Given the description of an element on the screen output the (x, y) to click on. 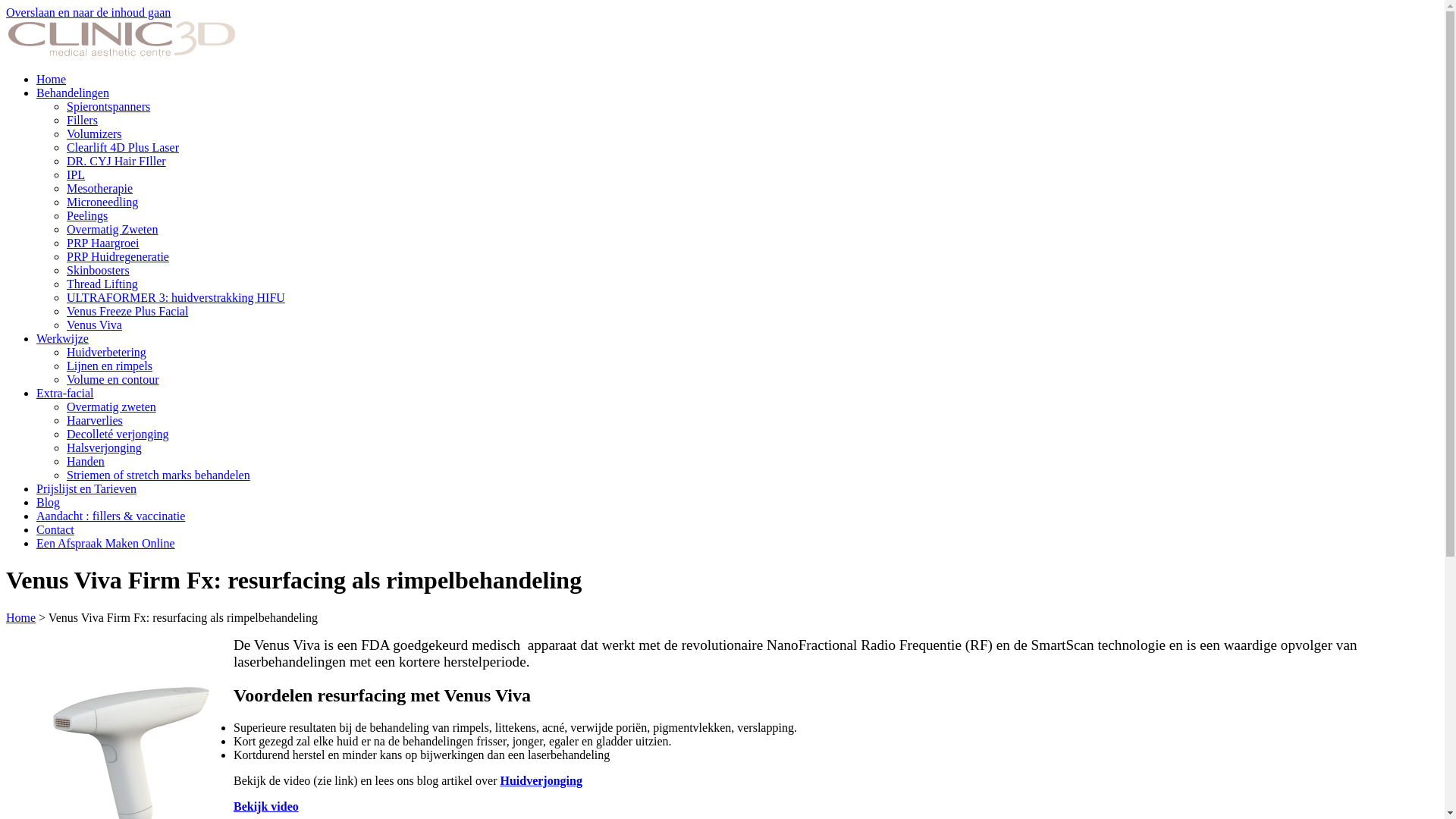
Lijnen en rimpels Element type: text (109, 365)
Volume en contour Element type: text (112, 379)
PRP Huidregeneratie Element type: text (117, 256)
Clearlift 4D Plus Laser Element type: text (122, 147)
Huidverbetering Element type: text (106, 351)
Peelings Element type: text (86, 215)
Bekijk video Element type: text (265, 806)
Haarverlies Element type: text (94, 420)
Home Element type: text (20, 617)
Halsverjonging Element type: text (103, 447)
Overmatig Zweten Element type: text (111, 228)
Extra-facial Element type: text (65, 392)
Blog Element type: text (47, 501)
Striemen of stretch marks behandelen Element type: text (158, 474)
Home Element type: hover (121, 53)
Overslaan en naar de inhoud gaan Element type: text (88, 12)
Behandelingen Element type: text (72, 92)
IPL Element type: text (75, 174)
Home Element type: text (50, 78)
Skinboosters Element type: text (97, 269)
DR. CYJ Hair FIller Element type: text (116, 160)
Werkwijze Element type: text (62, 338)
PRP Haargroei Element type: text (102, 242)
Venus Freeze Plus Facial Element type: text (127, 310)
Een Afspraak Maken Online Element type: text (105, 542)
Thread Lifting Element type: text (102, 283)
Overmatig zweten Element type: text (111, 406)
Handen Element type: text (85, 461)
Spierontspanners Element type: text (108, 106)
Venus Viva Element type: text (94, 324)
ULTRAFORMER 3: huidverstrakking HIFU Element type: text (175, 297)
Mesotherapie Element type: text (99, 188)
Prijslijst en Tarieven Element type: text (86, 488)
Fillers Element type: text (81, 119)
Contact Element type: text (55, 529)
Huidverjonging Element type: text (540, 780)
Microneedling Element type: text (102, 201)
Aandacht : fillers & vaccinatie Element type: text (110, 515)
Volumizers Element type: text (94, 133)
